Given the description of an element on the screen output the (x, y) to click on. 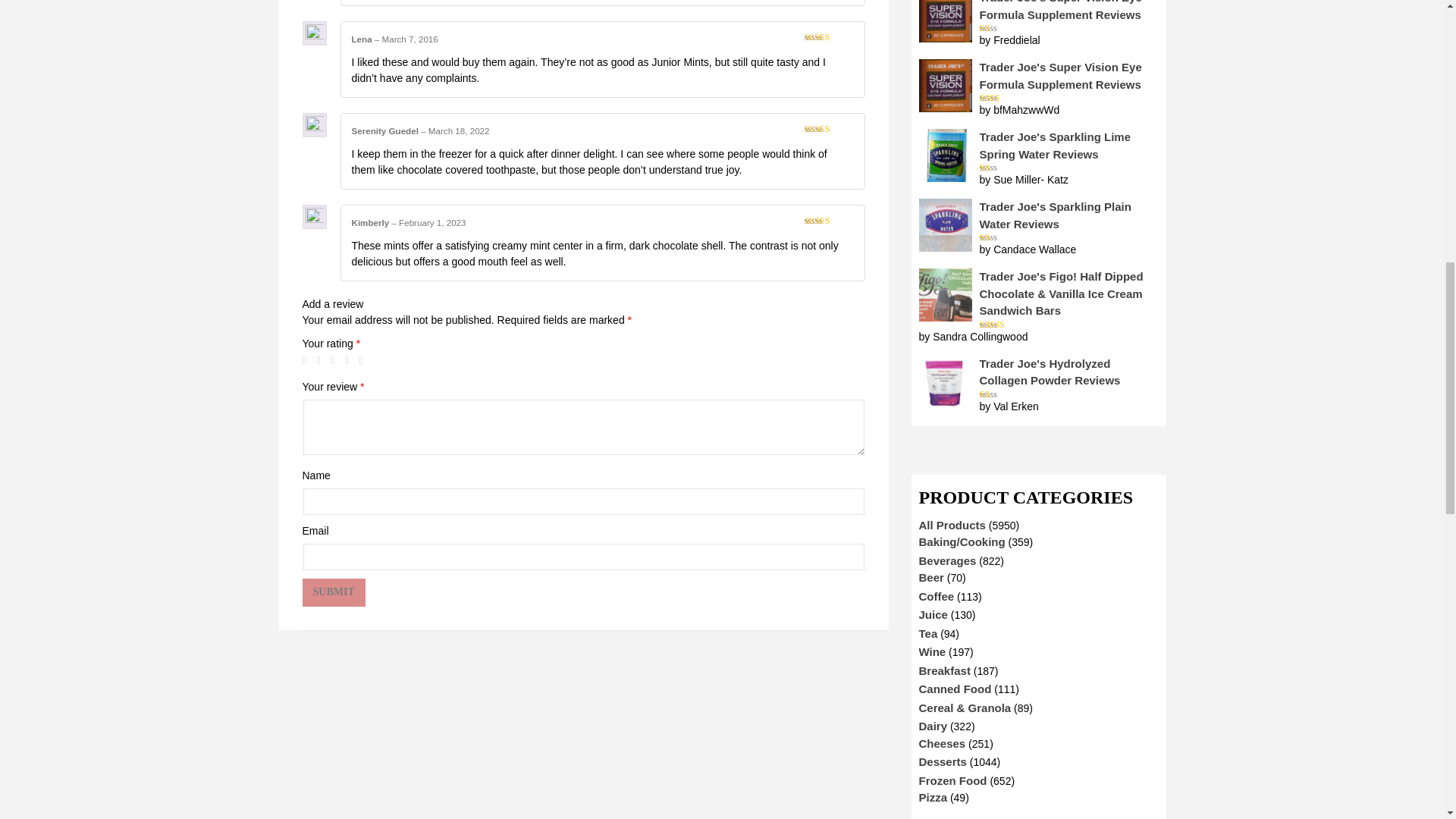
Submit (333, 592)
